Given the description of an element on the screen output the (x, y) to click on. 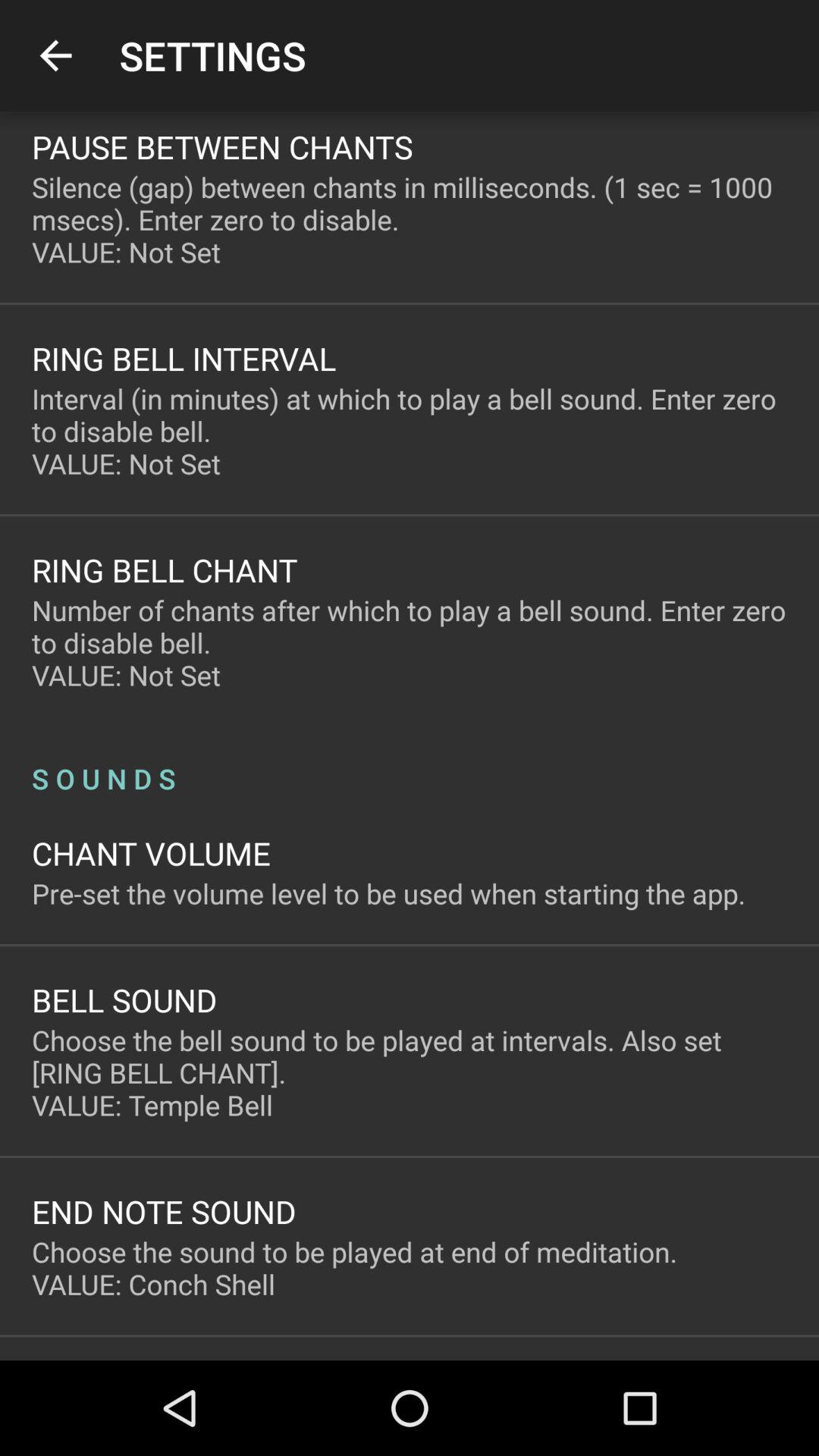
scroll until s o u item (409, 762)
